Given the description of an element on the screen output the (x, y) to click on. 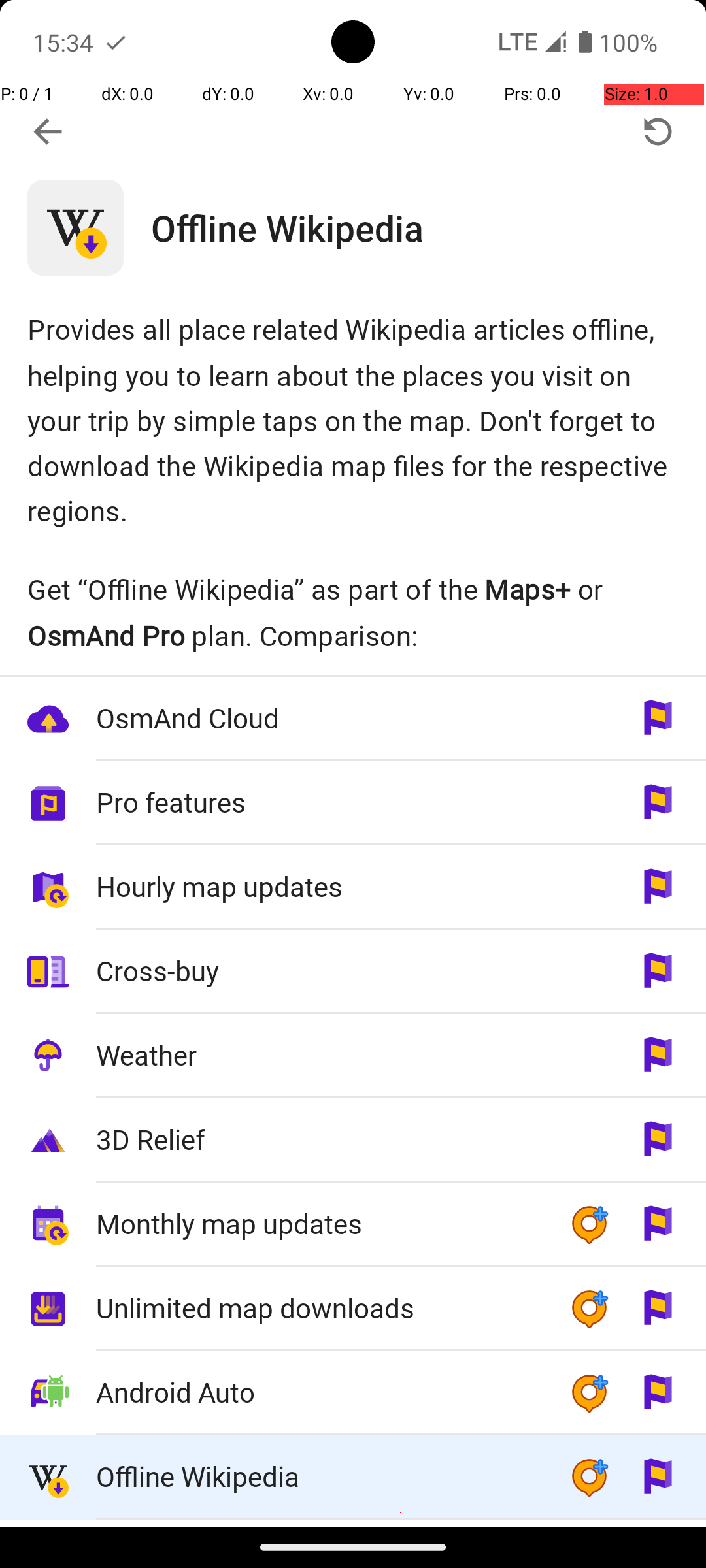
Offline Wikipedia Element type: android.widget.TextView (428, 227)
Restore purchases Element type: android.widget.ImageButton (657, 131)
Provides all place related Wikipedia articles offline, helping you to learn about the places you visit on your trip by simple taps on the map. Don't forget to download the Wikipedia map files for the respective regions. Element type: android.widget.TextView (353, 419)
Get “Offline Wikipedia” as part of the Maps+ or OsmAnd Pro plan. Comparison: Element type: android.widget.TextView (353, 611)
OsmAnd Cloud available as part of the OsmAnd Pro plan Element type: android.widget.LinearLayout (353, 718)
Pro features available as part of the OsmAnd Pro plan Element type: android.widget.LinearLayout (353, 803)
Hourly map updates available as part of the OsmAnd Pro plan Element type: android.widget.LinearLayout (353, 887)
Cross-buy available as part of the OsmAnd Pro plan Element type: android.widget.LinearLayout (353, 971)
Weather available as part of the OsmAnd Pro plan Element type: android.widget.LinearLayout (353, 1055)
3D Relief available as part of the OsmAnd Pro plan Element type: android.widget.LinearLayout (353, 1140)
Monthly map updates available as part of the OsmAnd+ or OsmAnd Pro plan Element type: android.widget.LinearLayout (353, 1224)
Unlimited map downloads available as part of the OsmAnd+ or OsmAnd Pro plan Element type: android.widget.LinearLayout (353, 1308)
Android Auto available as part of the OsmAnd+ or OsmAnd Pro plan Element type: android.widget.LinearLayout (353, 1393)
Offline Wikipedia available as part of the OsmAnd+ or OsmAnd Pro plan Element type: android.widget.LinearLayout (353, 1477)
Offline Wikivoyage available as part of the OsmAnd+ or OsmAnd Pro plan Element type: android.widget.LinearLayout (353, 1522)
OsmAnd Cloud Element type: android.widget.TextView (318, 717)
Pro features Element type: android.widget.TextView (318, 801)
Hourly map updates Element type: android.widget.TextView (318, 885)
Cross-buy Element type: android.widget.TextView (318, 970)
Weather Element type: android.widget.TextView (318, 1054)
3D Relief Element type: android.widget.TextView (318, 1138)
Monthly map updates Element type: android.widget.TextView (318, 1222)
Unlimited map downloads Element type: android.widget.TextView (318, 1307)
Android Auto Element type: android.widget.TextView (318, 1391)
Offline Wikivoyage Element type: android.widget.TextView (318, 1523)
